Given the description of an element on the screen output the (x, y) to click on. 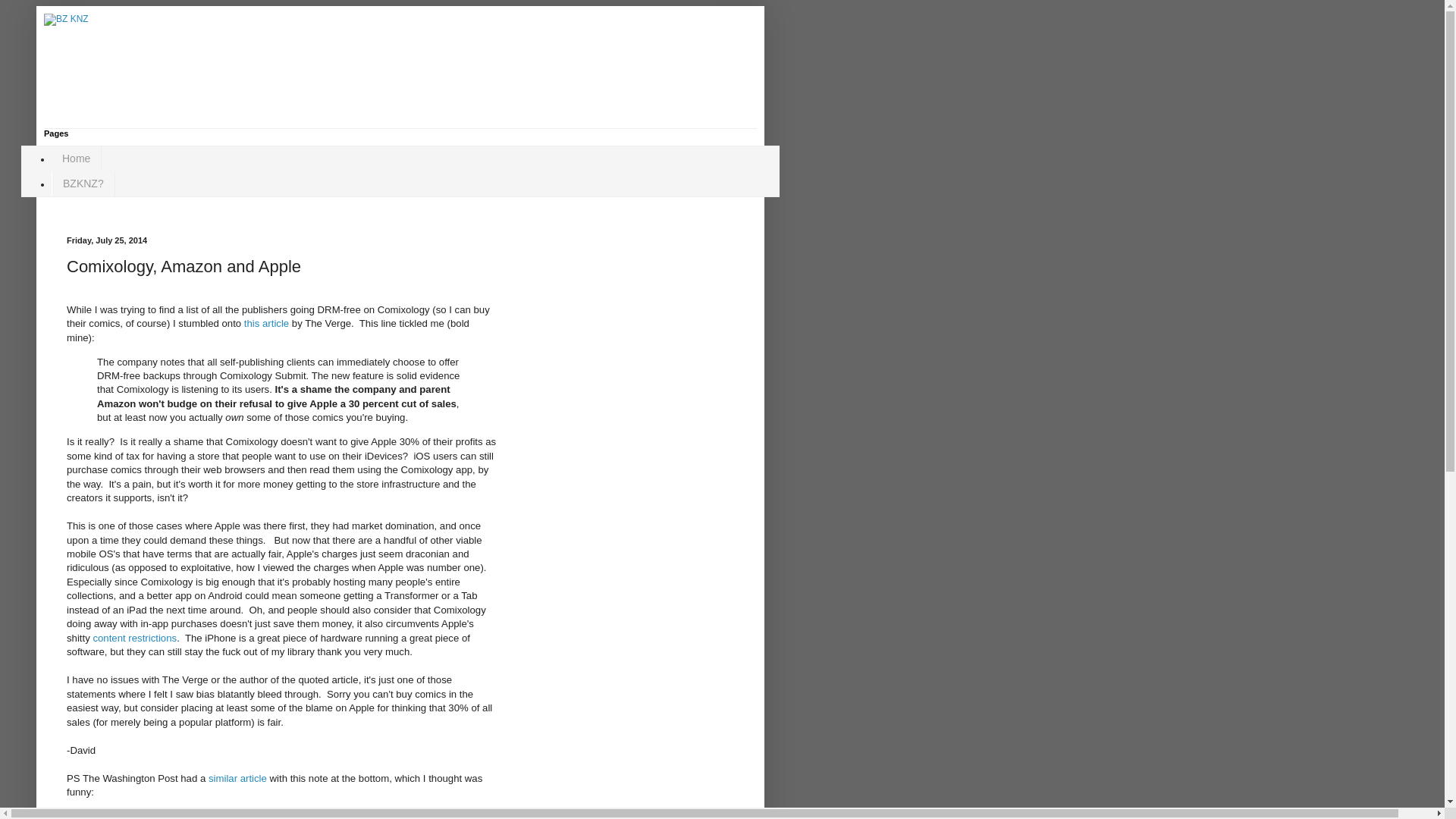
this article (266, 323)
BZKNZ? (82, 183)
content restrictions (133, 637)
Home (75, 158)
similar article (237, 778)
